Given the description of an element on the screen output the (x, y) to click on. 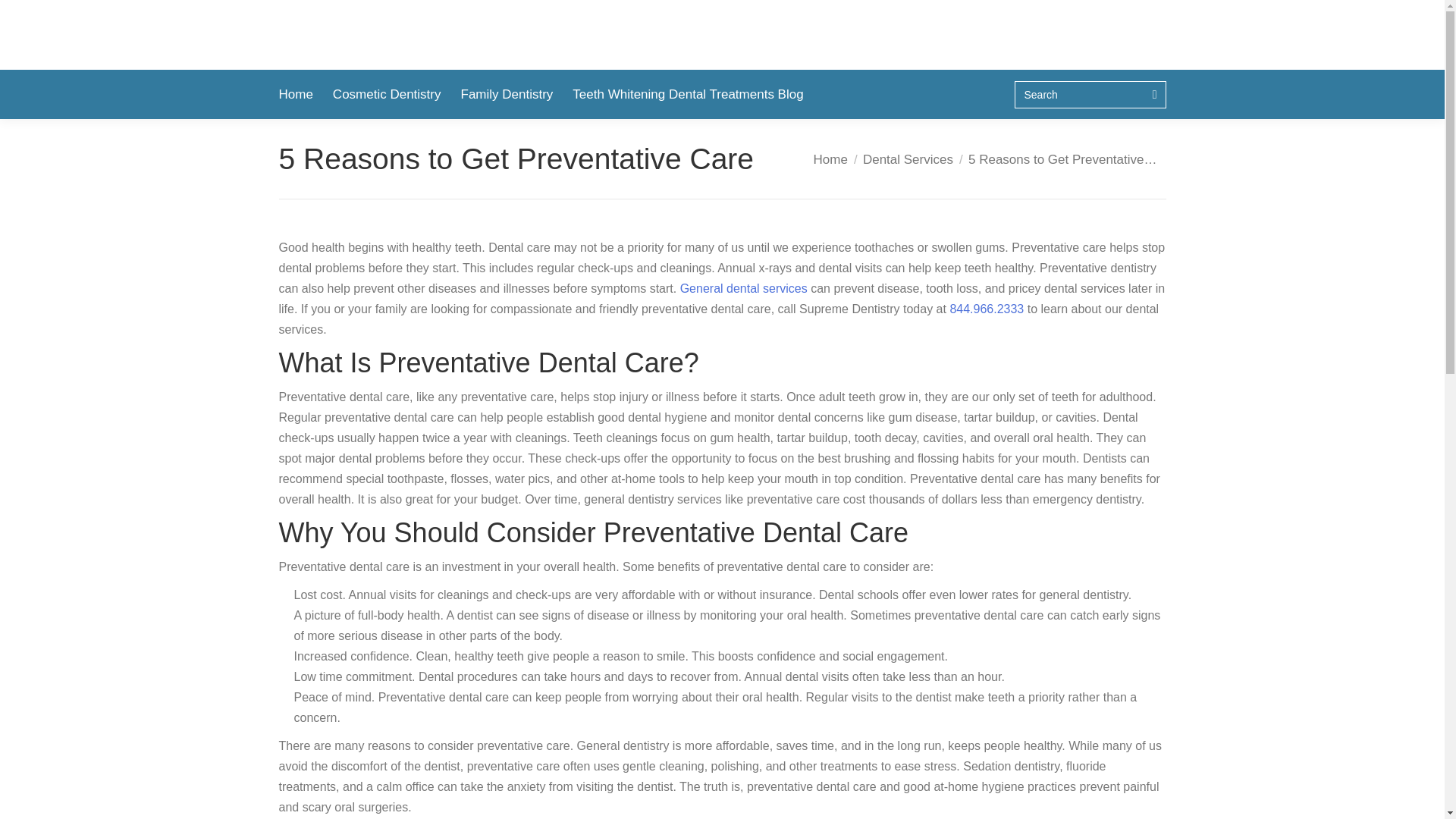
General dental services (743, 287)
Family Dentistry (507, 94)
Home (296, 94)
Search form (1090, 93)
Home (830, 159)
Teeth Whitening Dental Treatments Blog (687, 94)
844.966.2333 (986, 308)
Cosmetic Dentistry (387, 94)
Go! (24, 15)
Dental Services (908, 159)
